Given the description of an element on the screen output the (x, y) to click on. 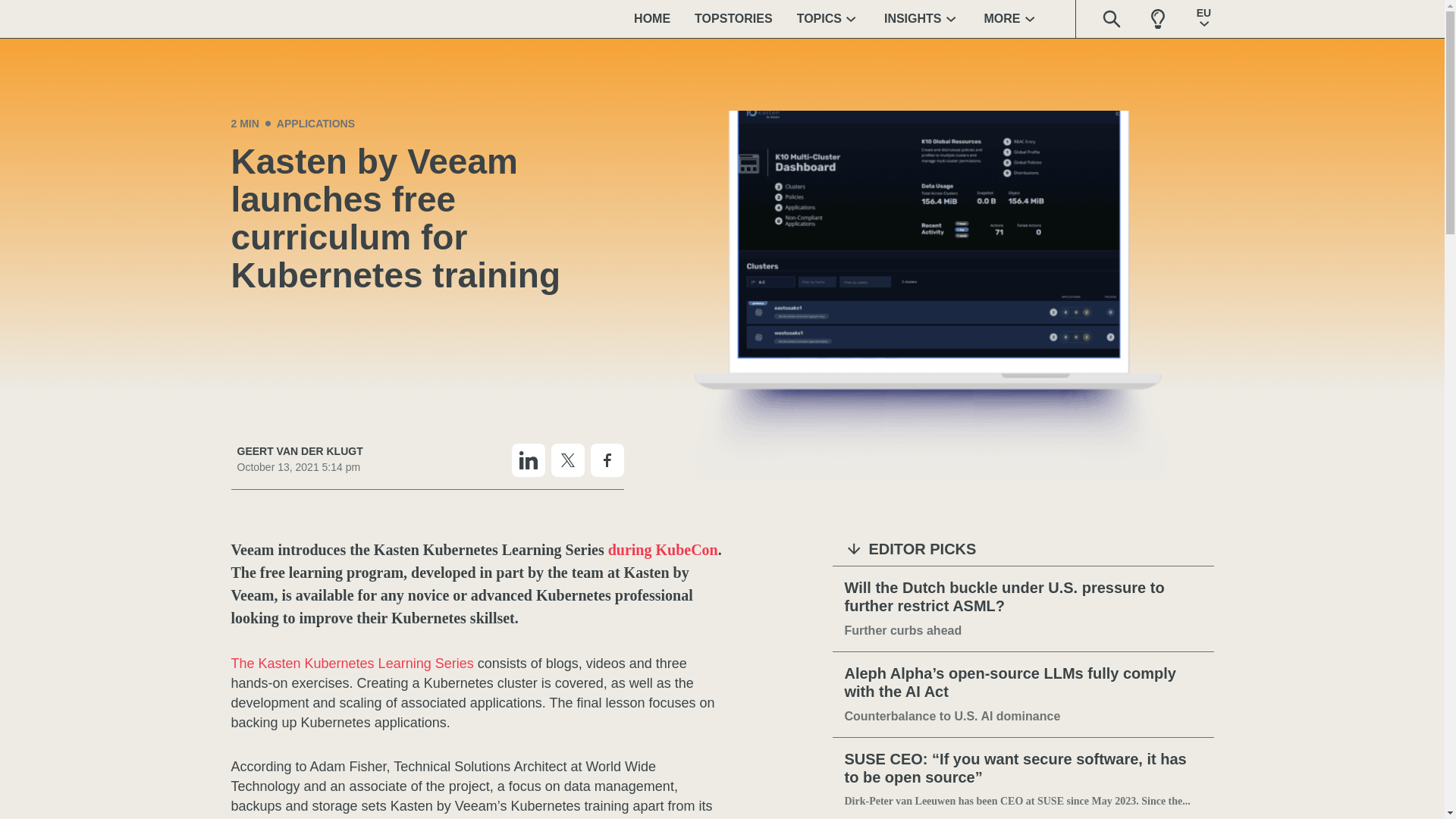
GEERT VAN DER KLUGT (298, 451)
APPLICATIONS (315, 123)
HOME (651, 18)
TOPICS (828, 18)
INSIGHTS (922, 18)
October 13, 2021 5:14 pm (298, 467)
MORE (1011, 18)
TOPSTORIES (733, 18)
